Given the description of an element on the screen output the (x, y) to click on. 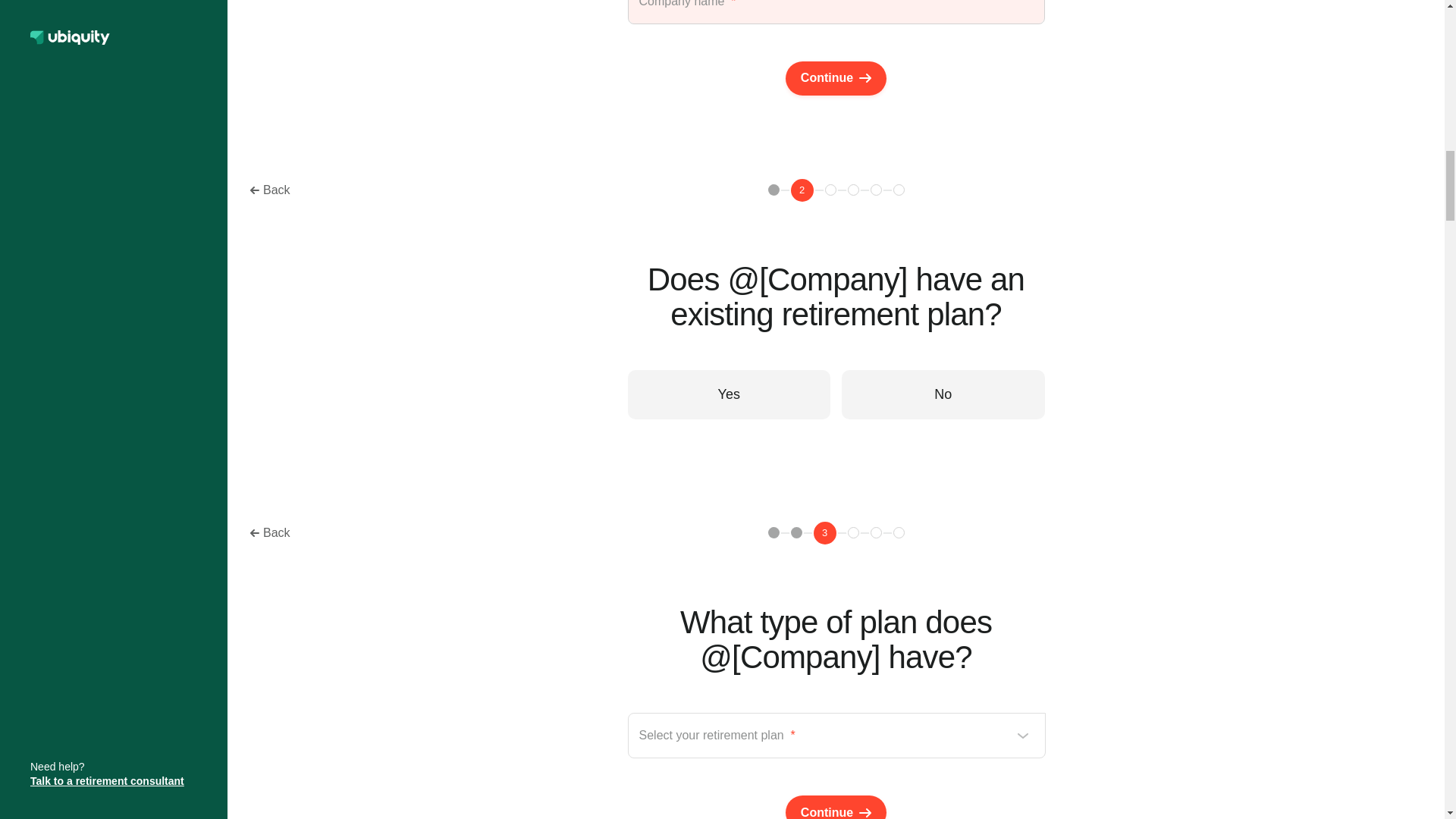
Continue (836, 78)
Continue (836, 807)
Back (269, 190)
Back (269, 532)
